Given the description of an element on the screen output the (x, y) to click on. 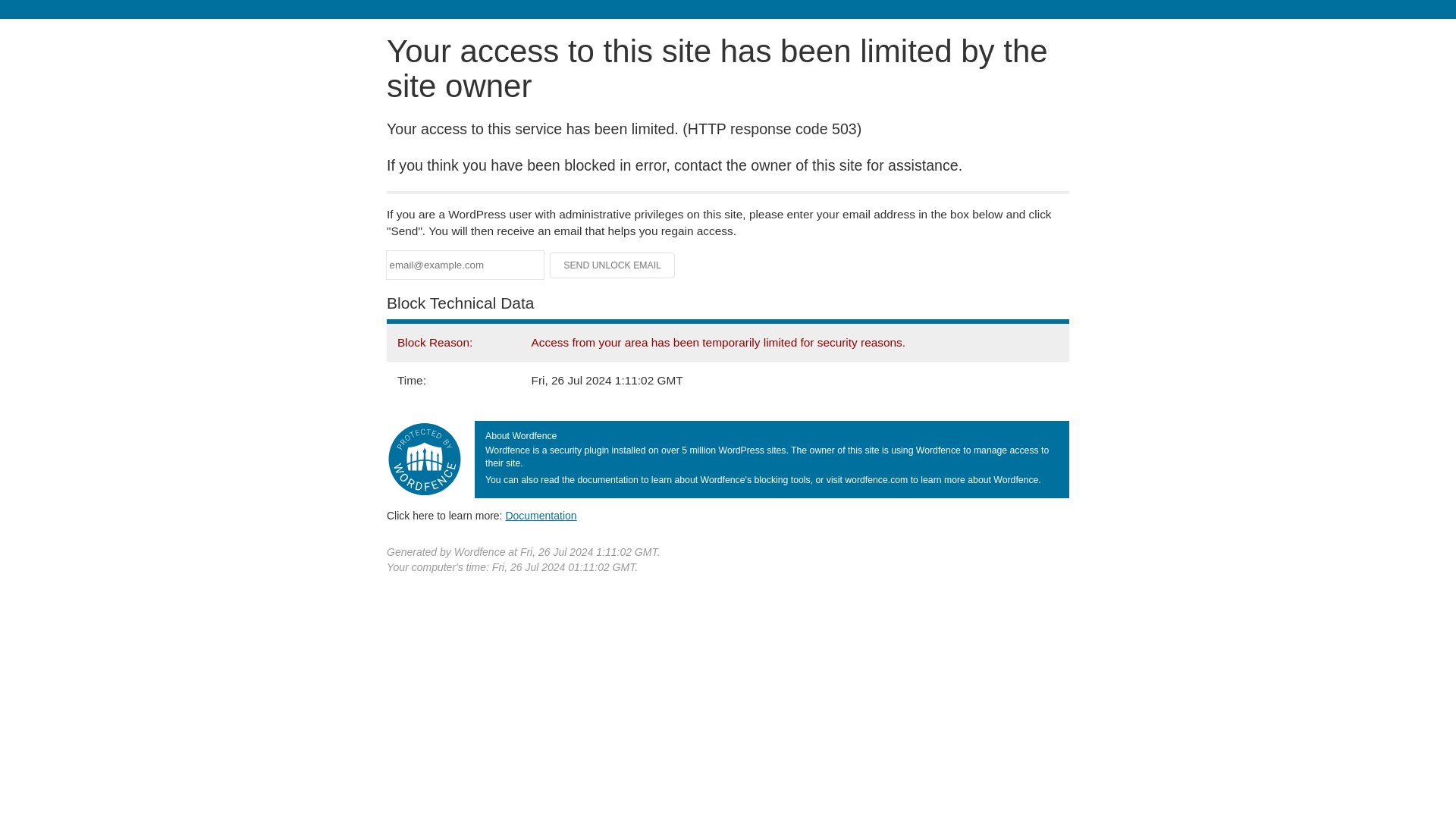
Send Unlock Email (612, 265)
Documentation (540, 515)
Send Unlock Email (612, 265)
